Given the description of an element on the screen output the (x, y) to click on. 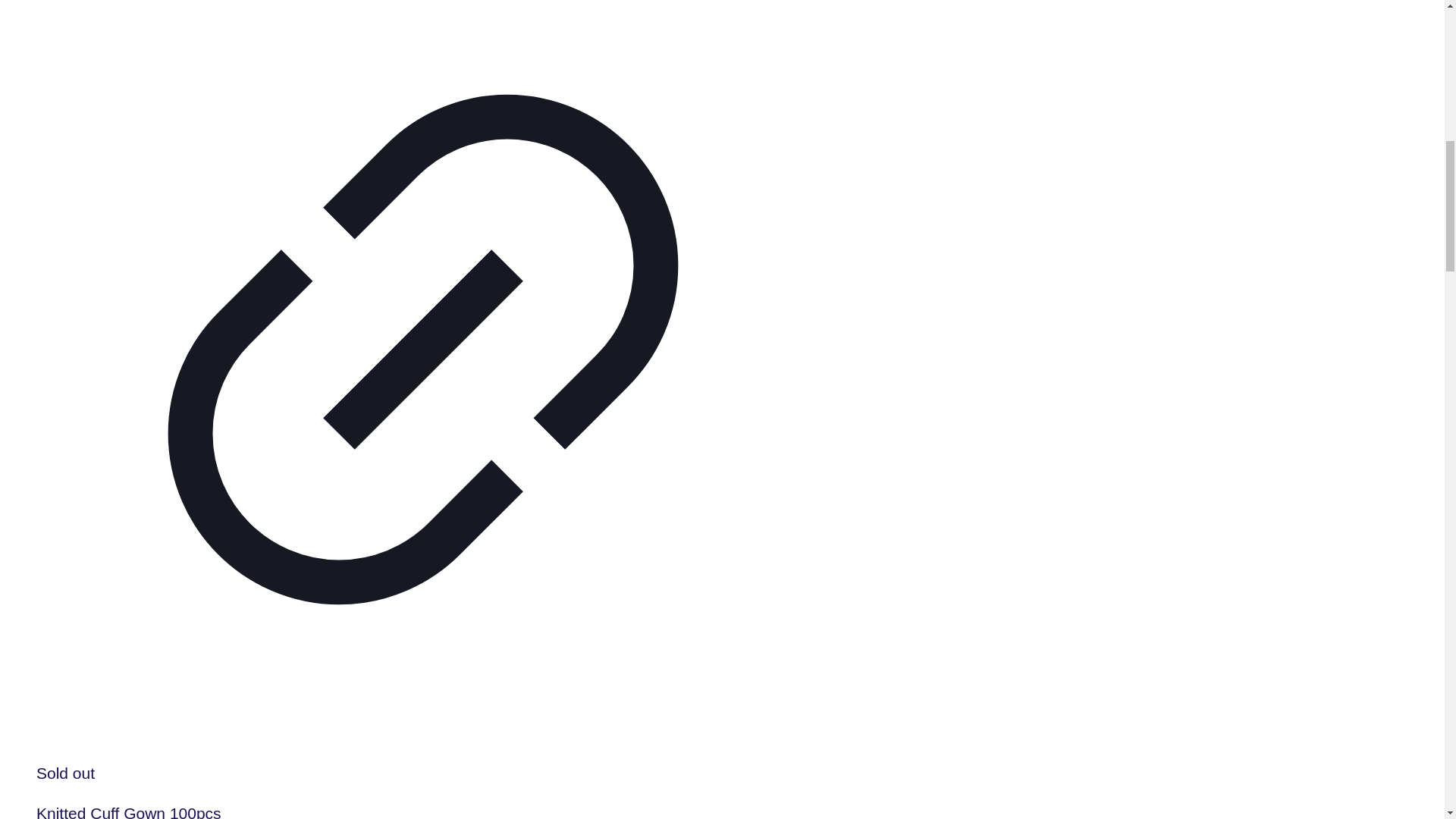
Knitted Cuff Gown 100pcs (128, 811)
